Given the description of an element on the screen output the (x, y) to click on. 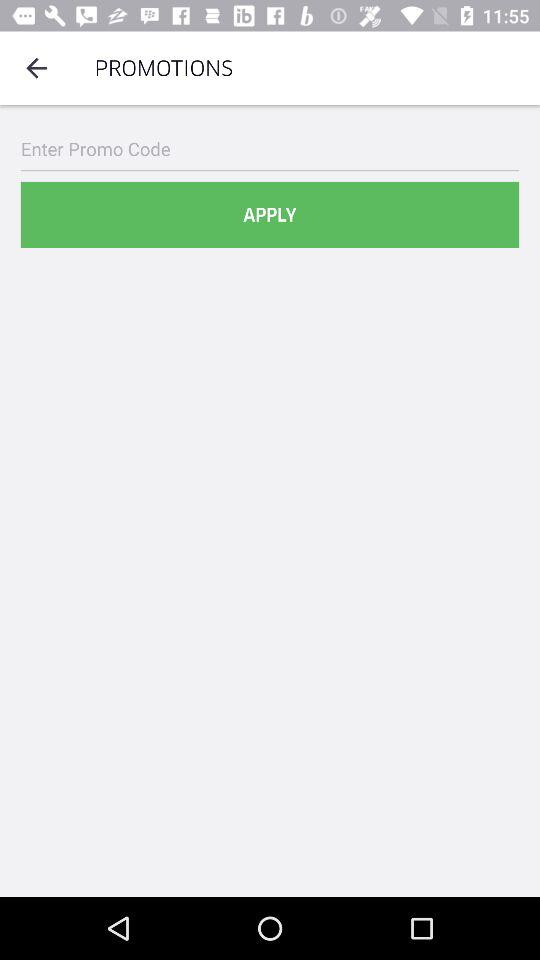
turn on icon to the left of promotions (36, 68)
